Given the description of an element on the screen output the (x, y) to click on. 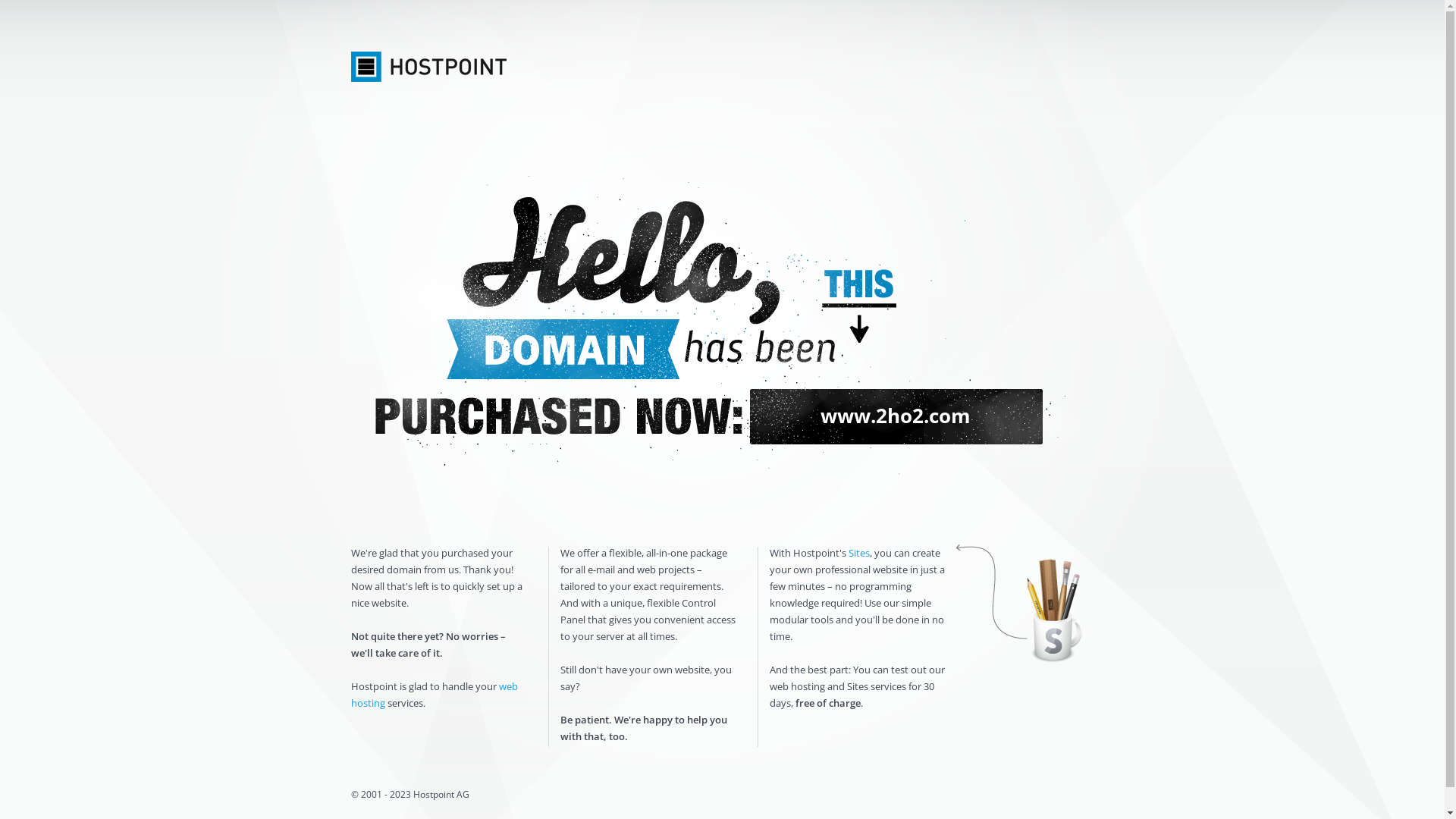
web hosting Element type: text (433, 694)
Sites Element type: text (858, 552)
